Given the description of an element on the screen output the (x, y) to click on. 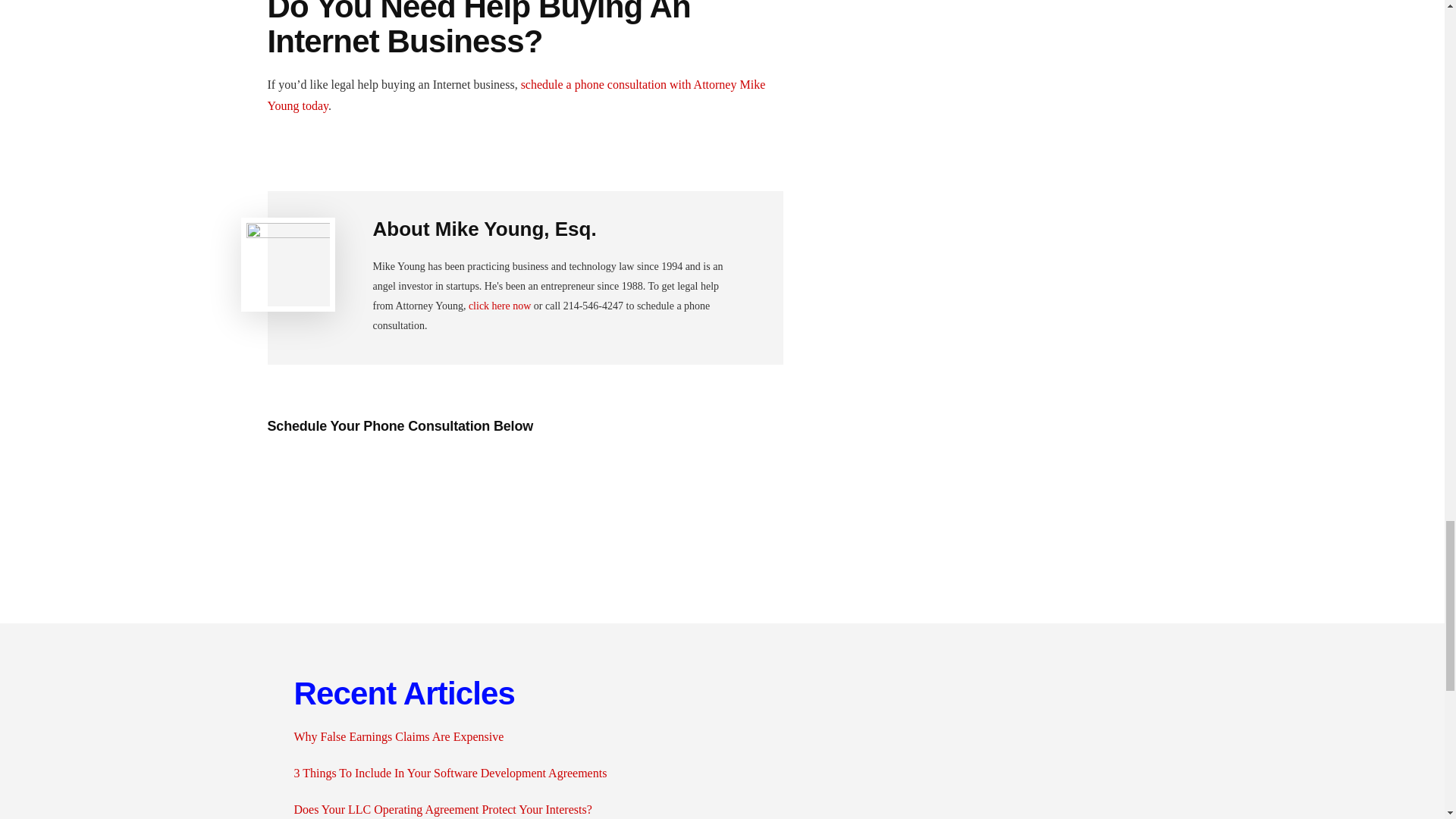
click here now (499, 306)
schedule a phone consultation with Attorney Mike Young today (515, 94)
